Given the description of an element on the screen output the (x, y) to click on. 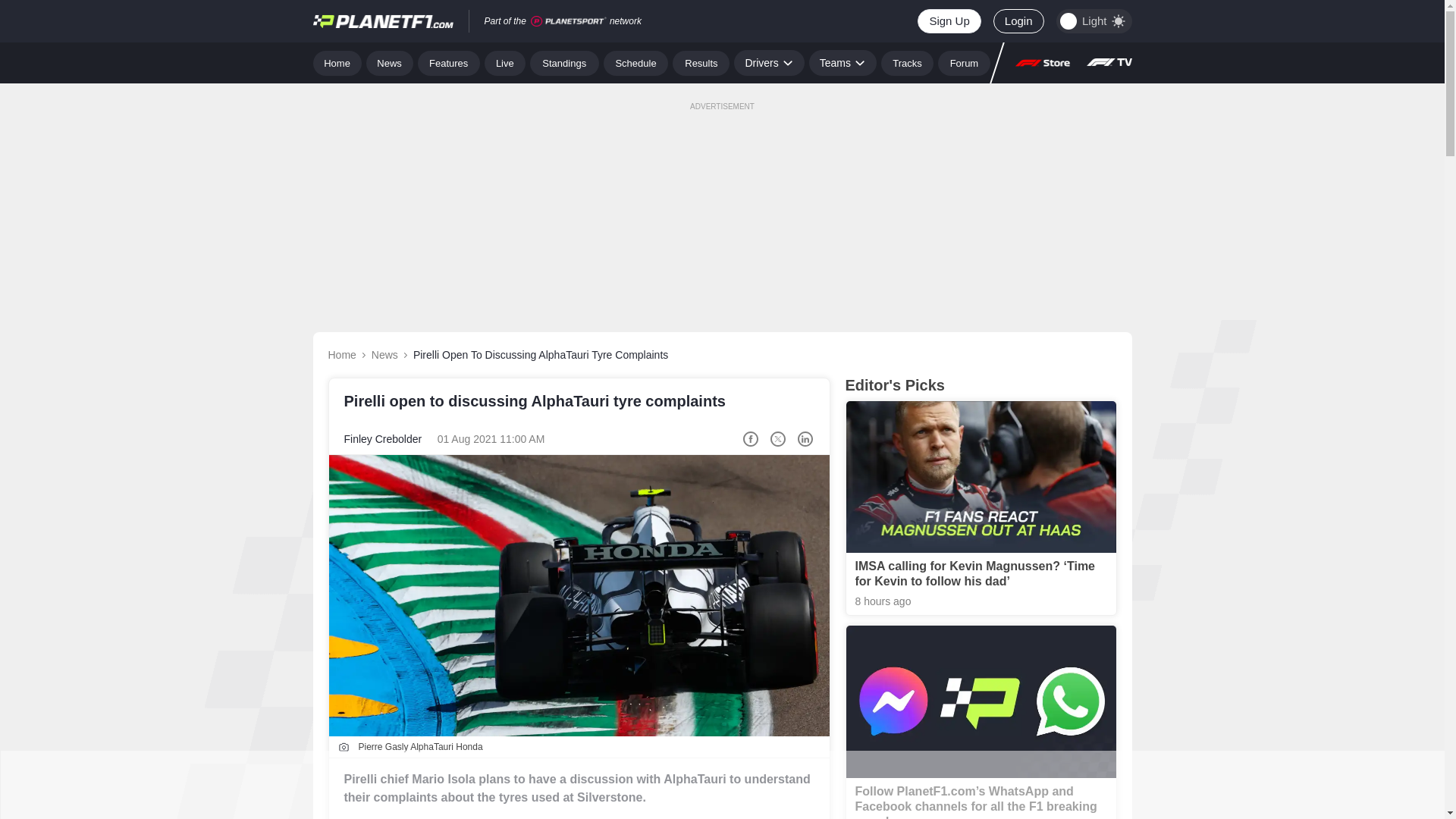
Drivers (768, 62)
Home (337, 62)
Schedule (636, 62)
Standings (563, 62)
3rd party ad content (721, 785)
Sign Up (948, 21)
Features (448, 62)
Teams (842, 62)
Results (700, 62)
Login (1017, 21)
Live (504, 62)
News (389, 62)
